Given the description of an element on the screen output the (x, y) to click on. 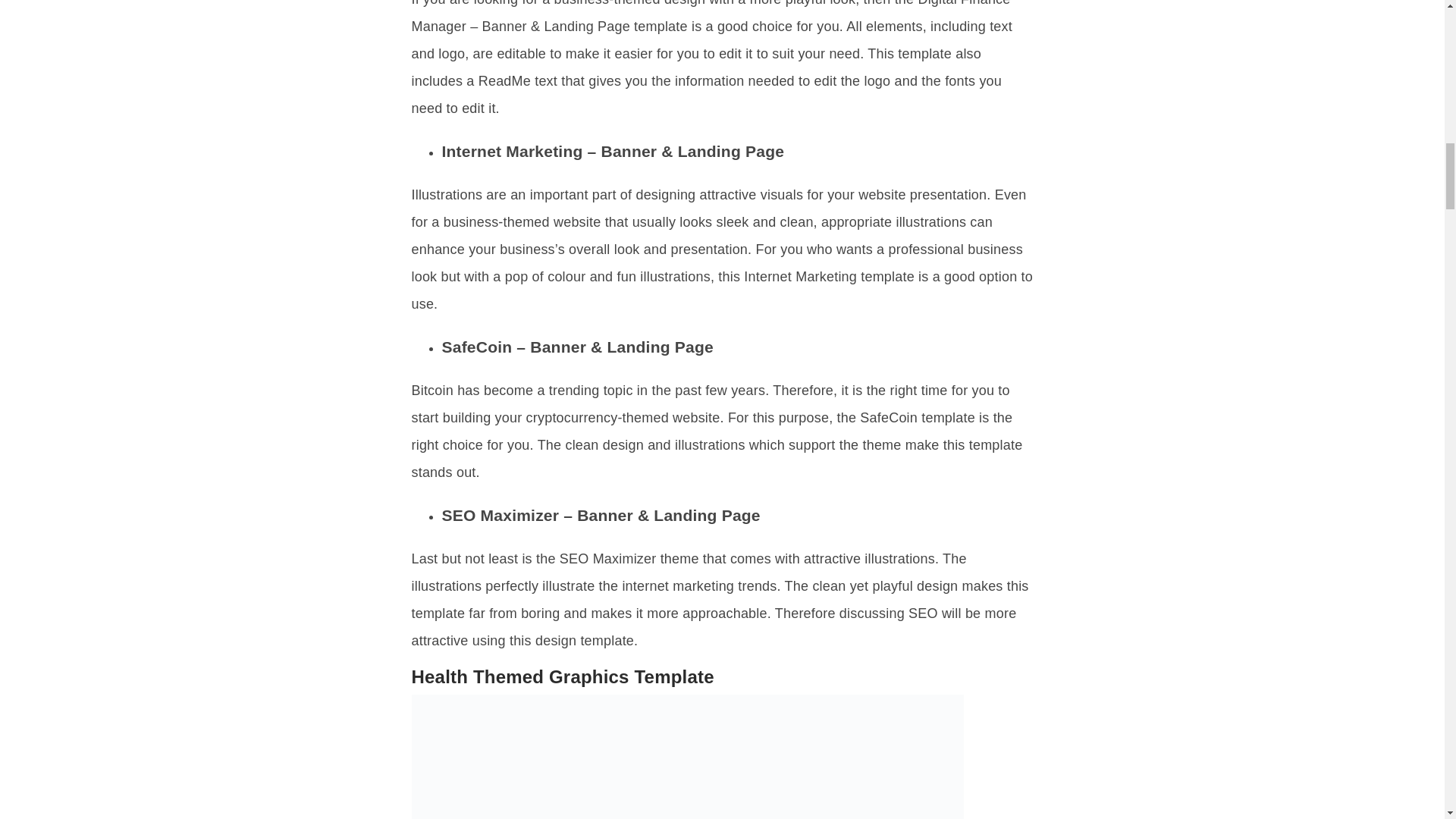
Graphics Template (686, 756)
